Given the description of an element on the screen output the (x, y) to click on. 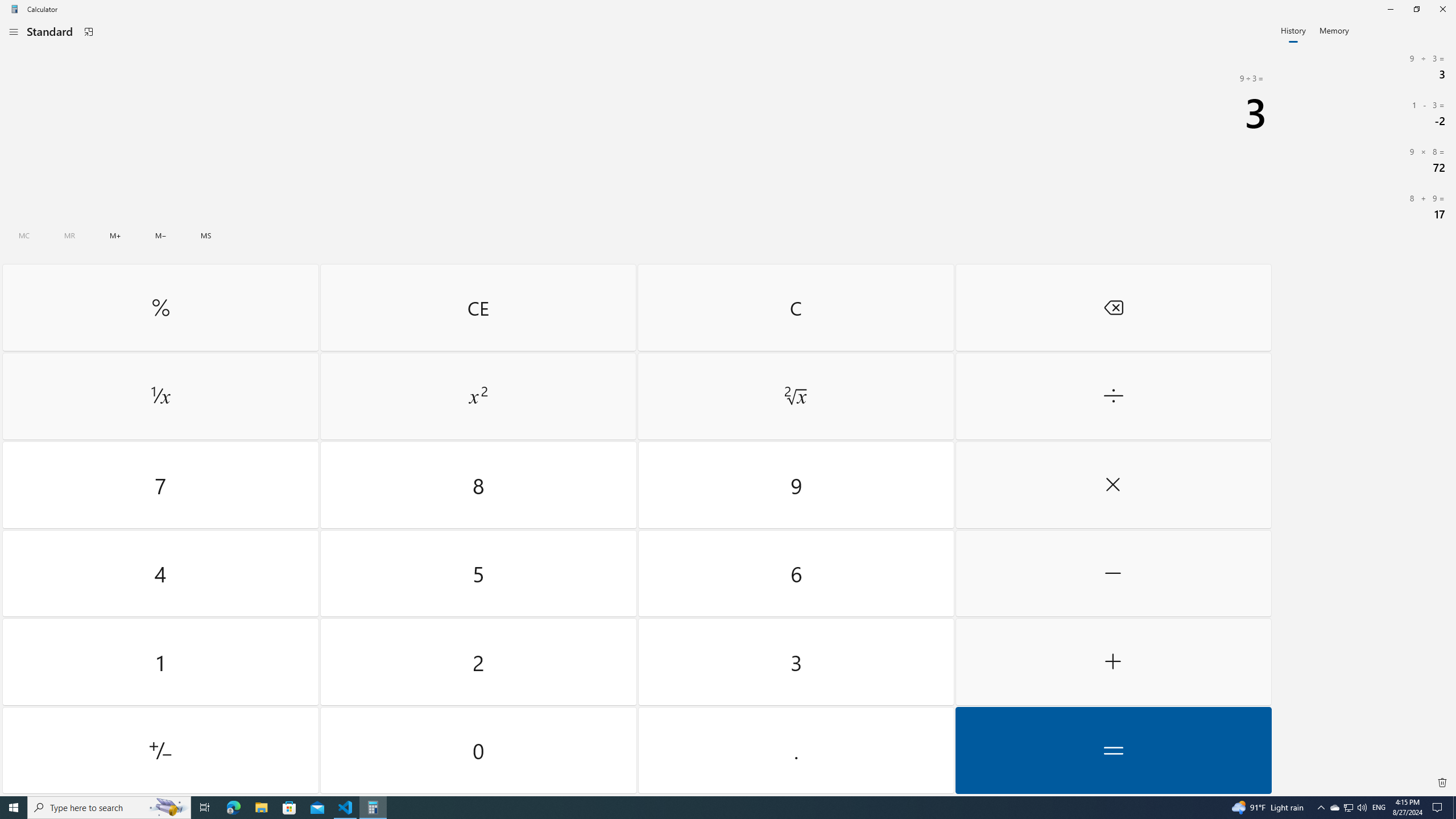
Four (160, 572)
Memory recall (69, 235)
Plus (1113, 661)
Open Navigation (13, 31)
Eight (478, 485)
Positive negative (160, 749)
Decimal separator (795, 749)
Memory subtract (160, 235)
Two (478, 661)
